Given the description of an element on the screen output the (x, y) to click on. 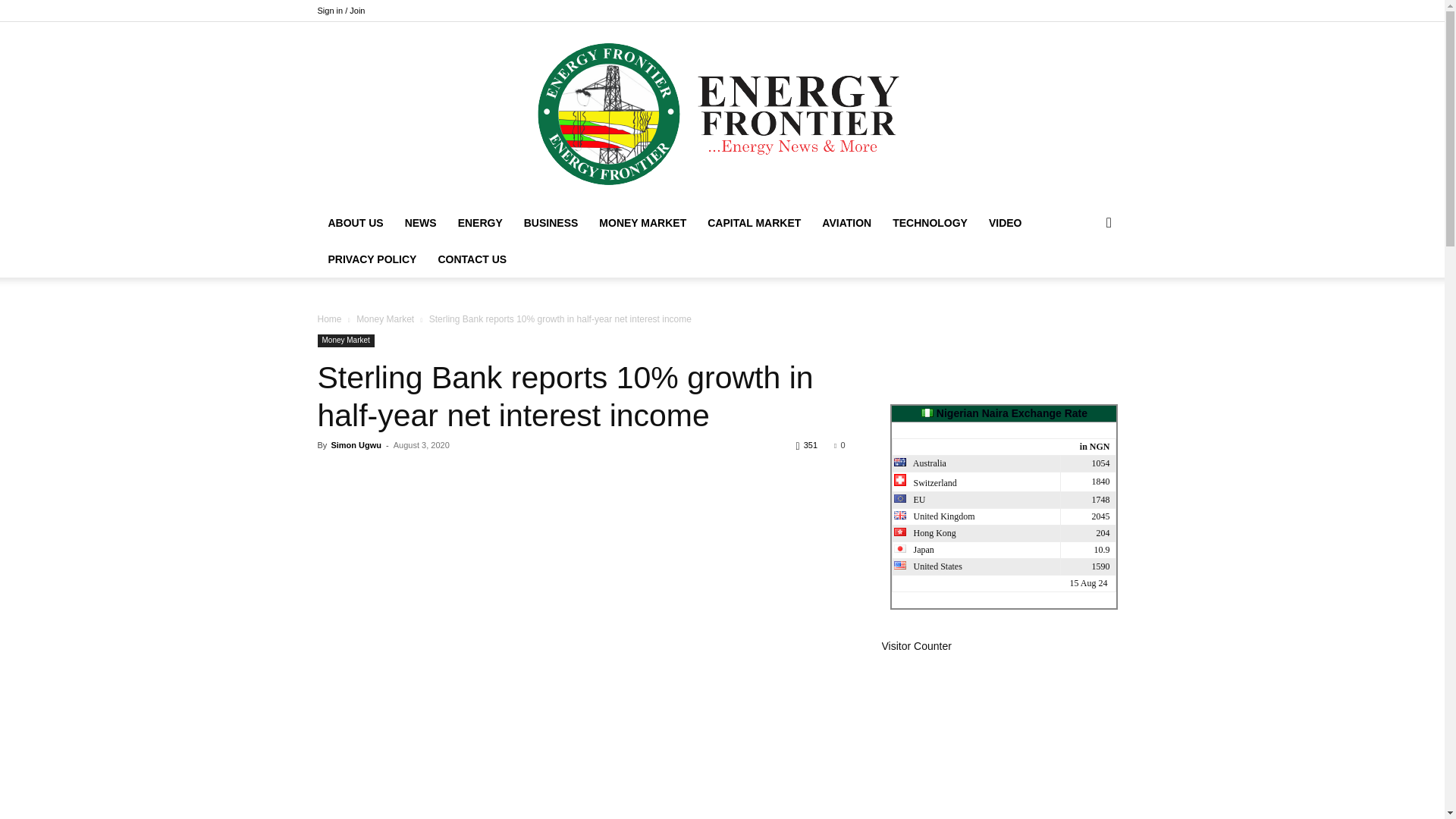
CONTACT US (471, 258)
ABOUT US (355, 222)
CAPITAL MARKET (753, 222)
NEWS (420, 222)
Energy Frontier (721, 113)
Search (1085, 283)
VIDEO (1005, 222)
ENERGY (479, 222)
BUSINESS (551, 222)
MONEY MARKET (642, 222)
